Given the description of an element on the screen output the (x, y) to click on. 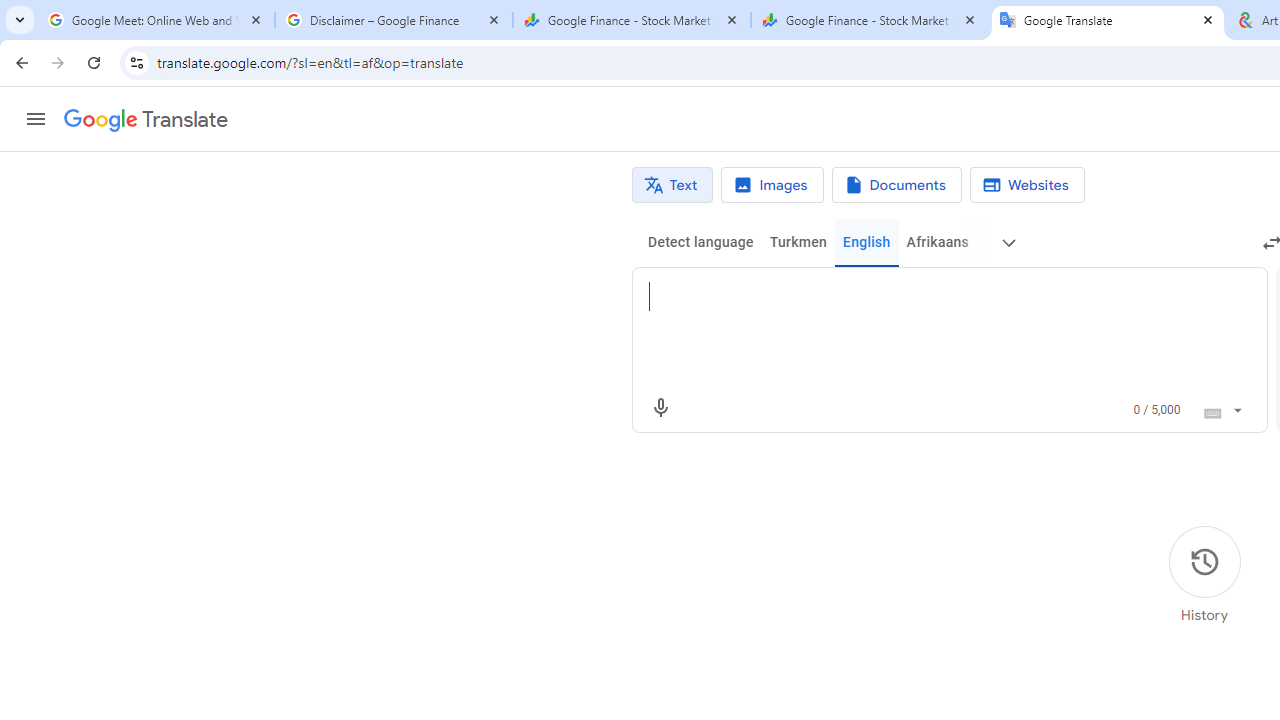
Google Translate (1108, 20)
Image translation (772, 185)
Detect language (699, 242)
More source languages (1008, 242)
Website translation (1026, 185)
Document translation (896, 185)
